Given the description of an element on the screen output the (x, y) to click on. 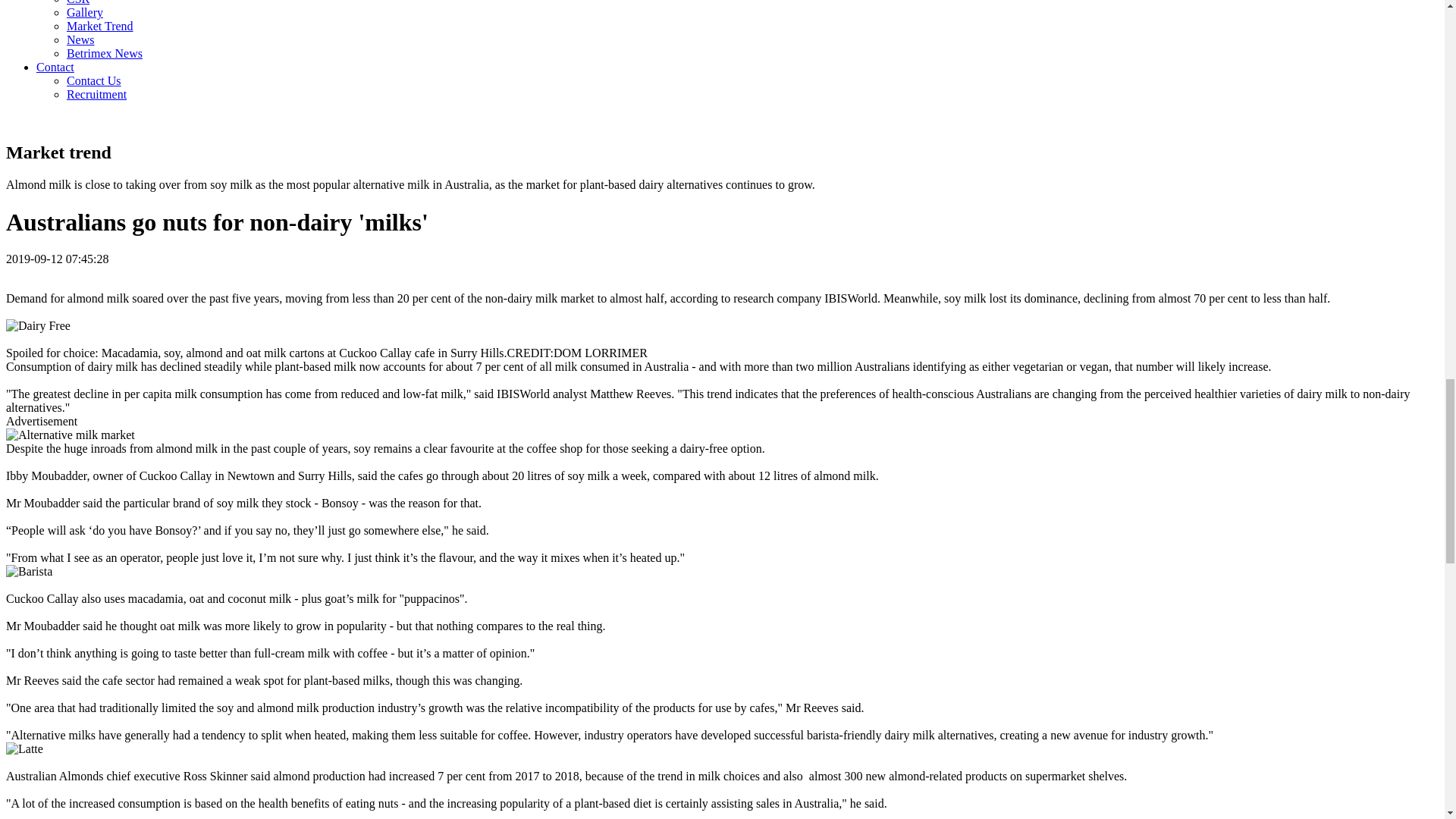
Barista (28, 571)
Latte (24, 748)
Dairy Free (37, 325)
Press Release (80, 39)
Alternative milk market (70, 435)
